Given the description of an element on the screen output the (x, y) to click on. 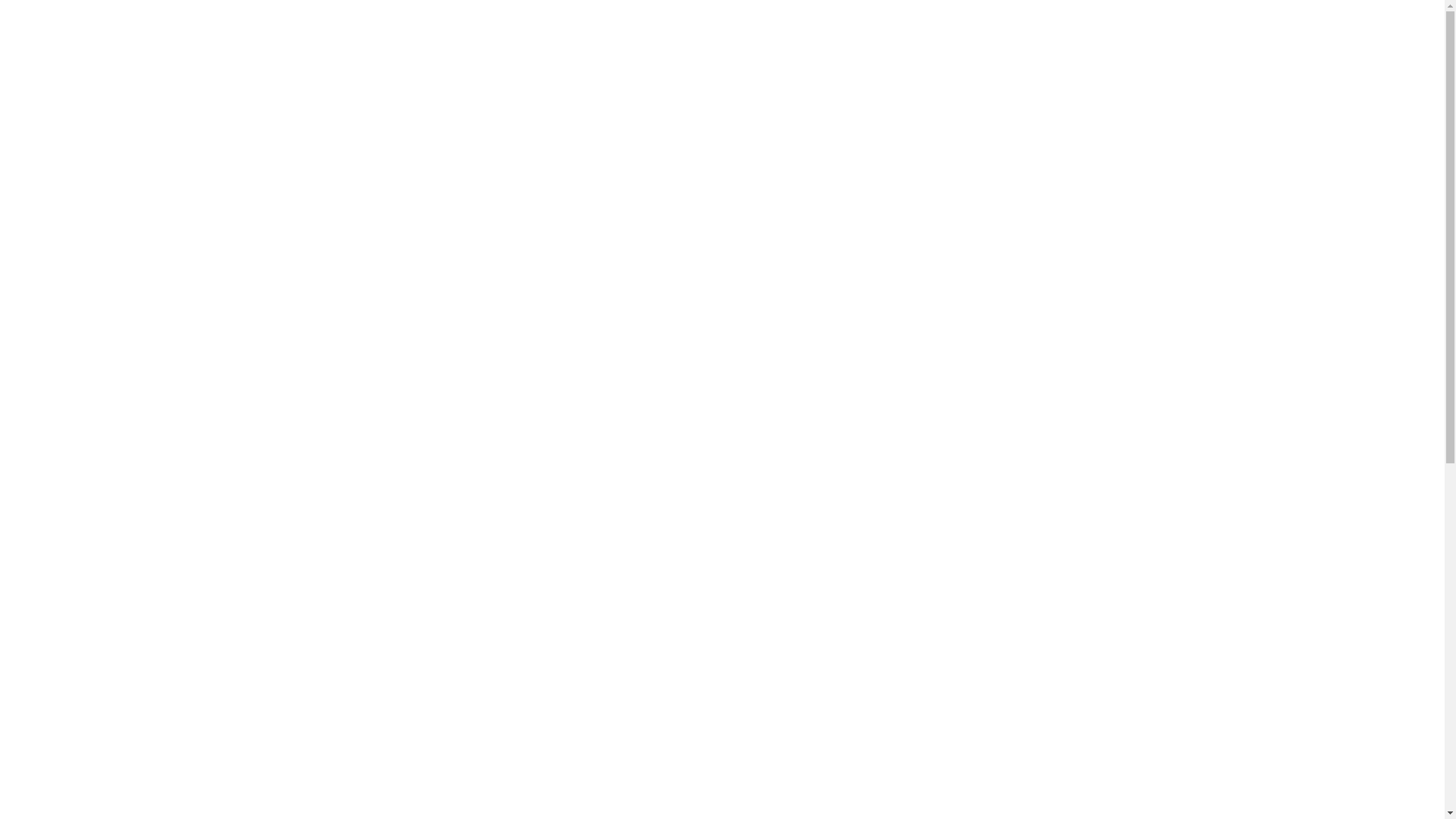
INICI Element type: text (660, 238)
Registra't Element type: text (722, 509)
ENTRAR Element type: text (1033, 27)
INICI Element type: text (741, 27)
Registra't Element type: text (722, 510)
CONTACTA Element type: text (957, 27)
OFERTES Element type: text (802, 27)
REGISTRE Element type: text (1112, 27)
